Given the description of an element on the screen output the (x, y) to click on. 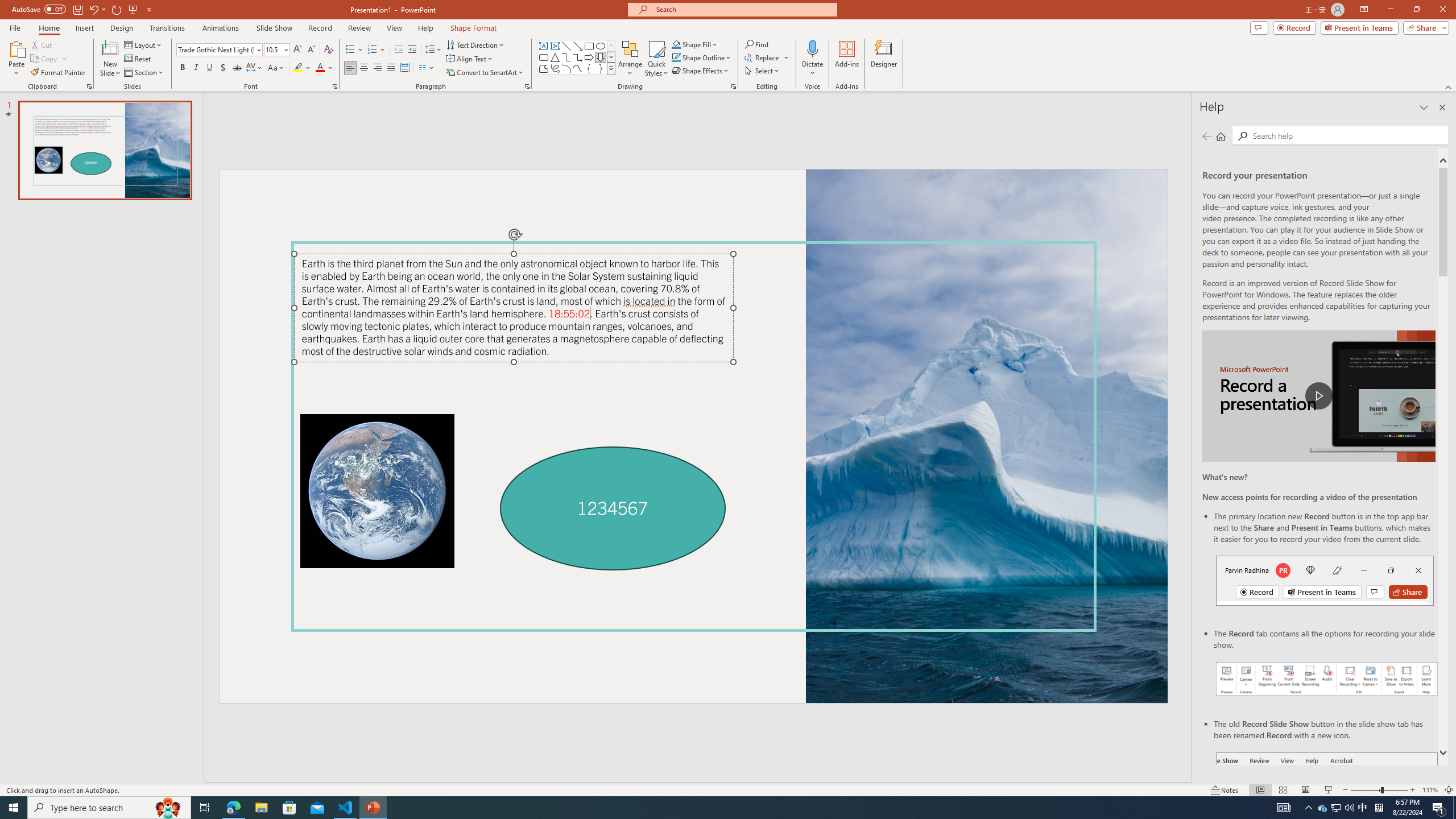
Shape Outline Teal, Accent 1 (675, 56)
